Given the description of an element on the screen output the (x, y) to click on. 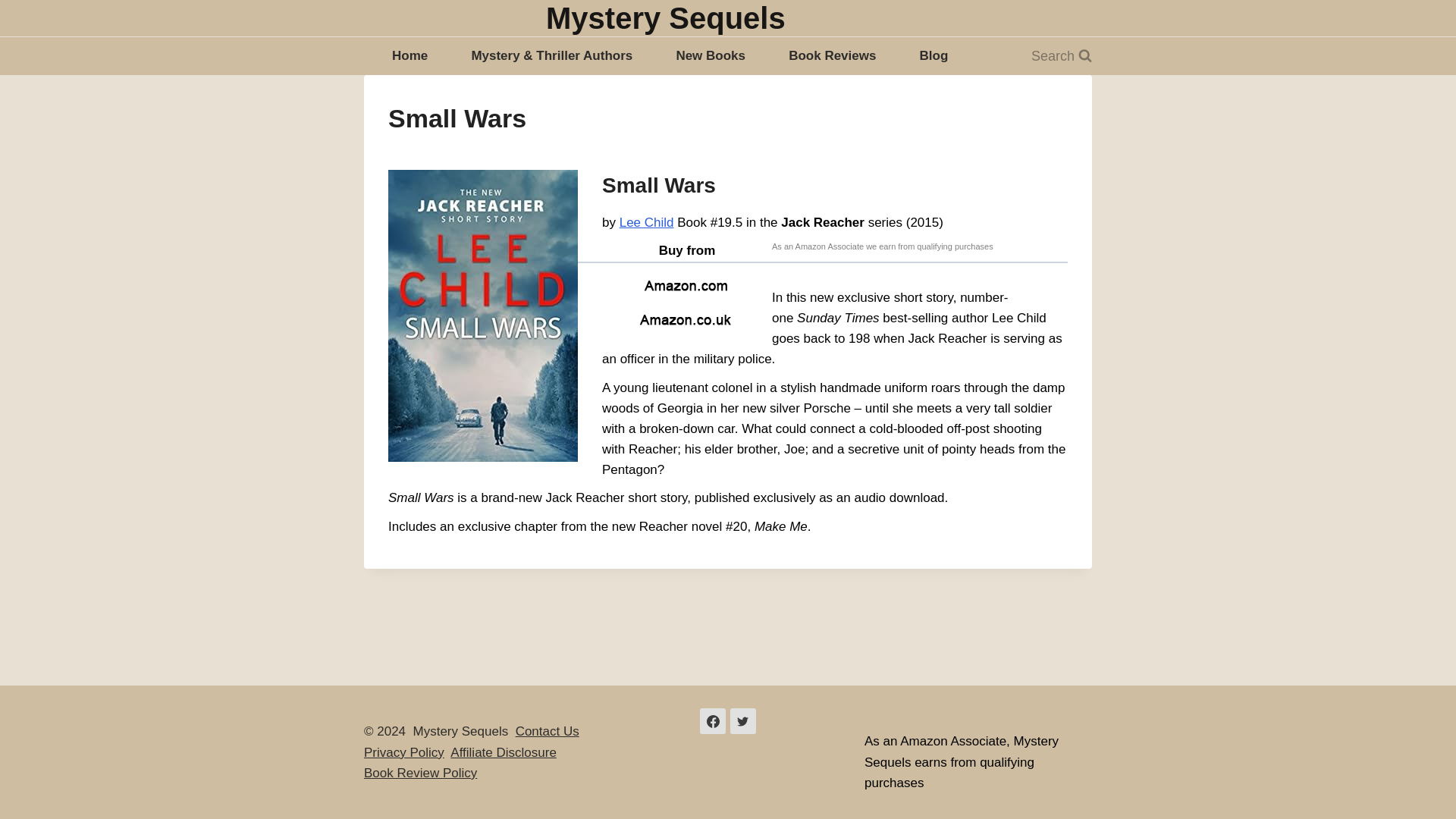
Affiliate Disclosure (502, 752)
Book Reviews (832, 55)
Privacy Policy (404, 752)
Contact Us (547, 730)
Mystery Sequels (666, 18)
Home (409, 55)
Blog (933, 55)
Search (1061, 56)
New Books (710, 55)
Book Review Policy (420, 772)
